Given the description of an element on the screen output the (x, y) to click on. 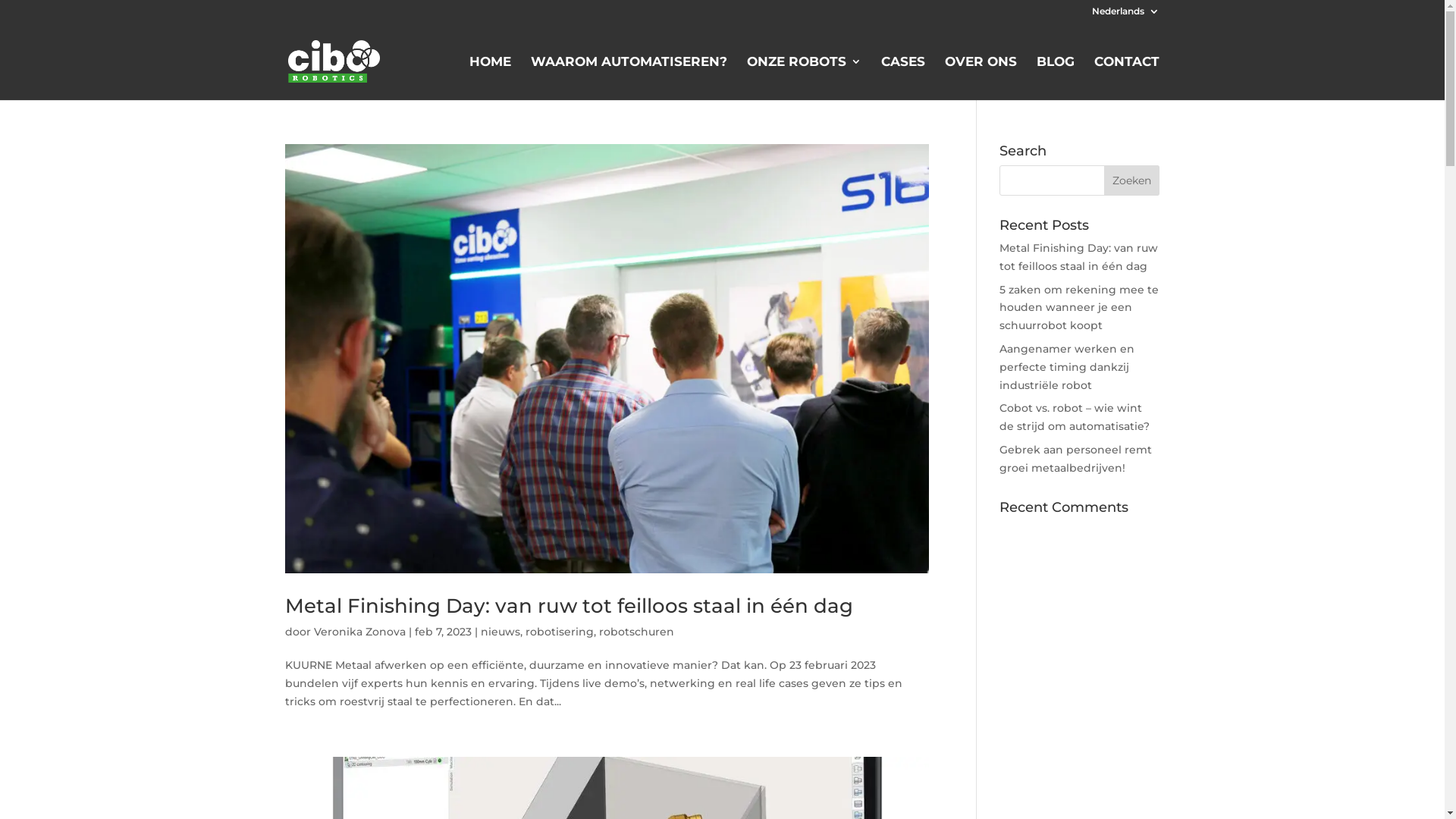
Zoeken Element type: text (1131, 180)
HOME Element type: text (490, 78)
robotisering Element type: text (559, 631)
CASES Element type: text (903, 78)
Veronika Zonova Element type: text (359, 631)
WAAROM AUTOMATISEREN? Element type: text (628, 78)
nieuws Element type: text (500, 631)
CONTACT Element type: text (1126, 78)
Nederlands Element type: text (1125, 14)
ONZE ROBOTS Element type: text (803, 78)
OVER ONS Element type: text (980, 78)
robotschuren Element type: text (636, 631)
BLOG Element type: text (1055, 78)
Gebrek aan personeel remt groei metaalbedrijven! Element type: text (1075, 458)
